Given the description of an element on the screen output the (x, y) to click on. 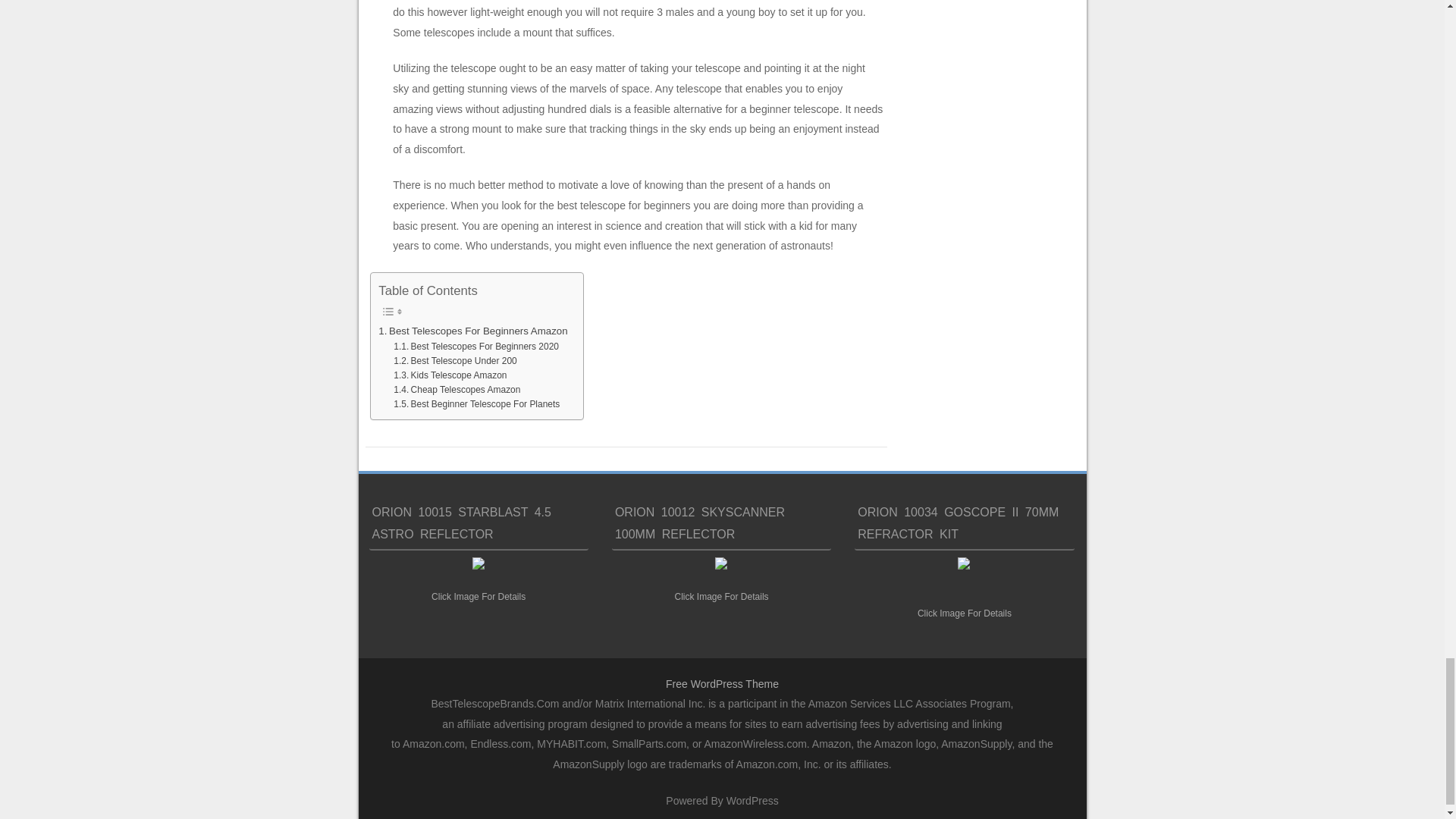
Best Telescopes For Beginners Amazon (472, 330)
Best Telescopes For Beginners 2020 (476, 346)
Best Telescope Under 200 (454, 360)
Best Telescopes For Beginners Amazon (472, 330)
Best Beginner Telescope For Planets (476, 404)
Kids Telescope Amazon (449, 375)
Best Telescopes For Beginners 2020 (476, 346)
Best Telescope Under 200 (454, 360)
Kids Telescope Amazon (449, 375)
Cheap Telescopes Amazon (456, 390)
